Given the description of an element on the screen output the (x, y) to click on. 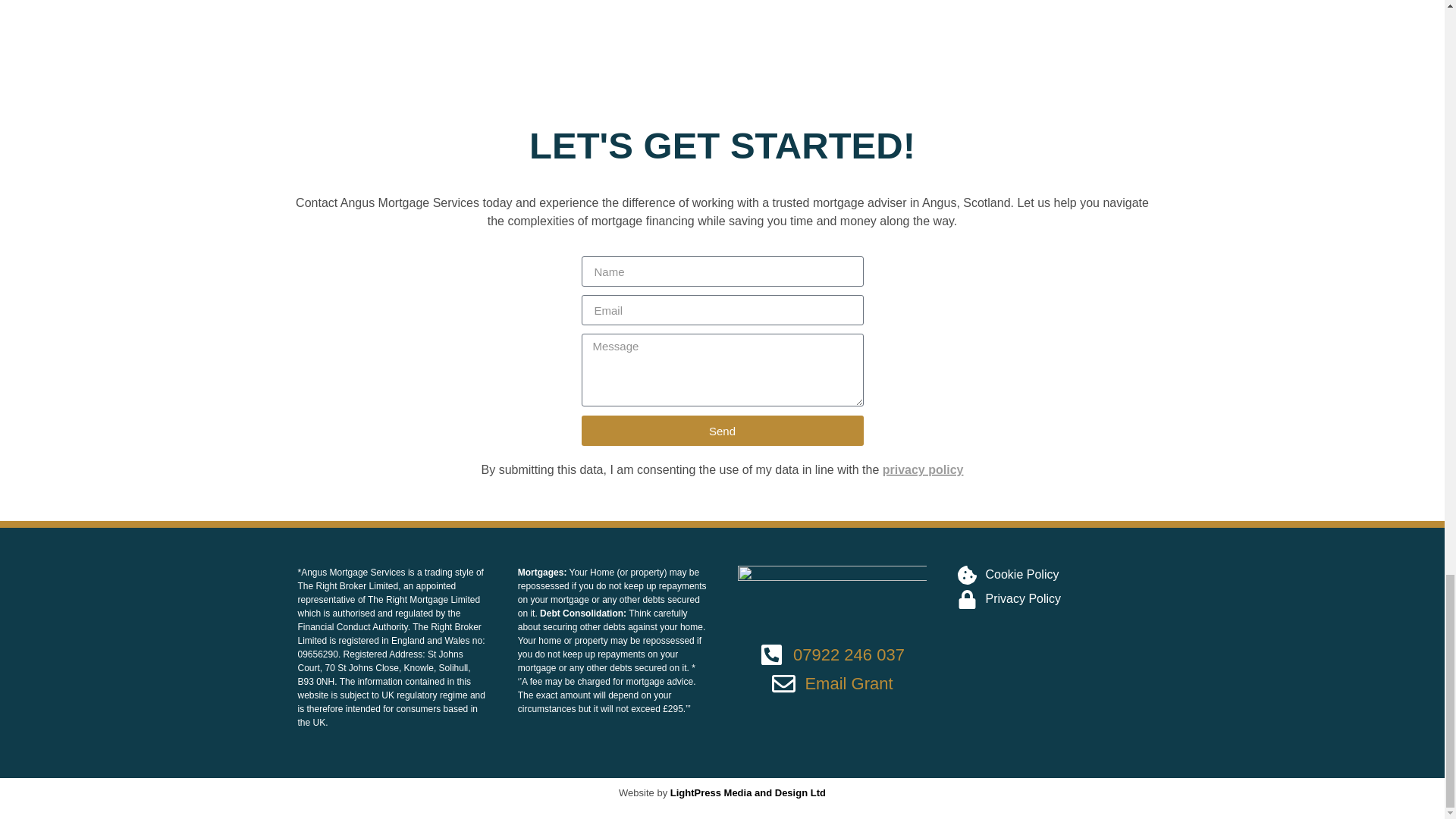
privacy policy (922, 469)
Cookie Policy (1052, 574)
Email Grant (832, 683)
Send (721, 430)
07922 246 037 (832, 654)
Privacy Policy (1052, 599)
LightPress Media and Design Ltd (747, 792)
